Given the description of an element on the screen output the (x, y) to click on. 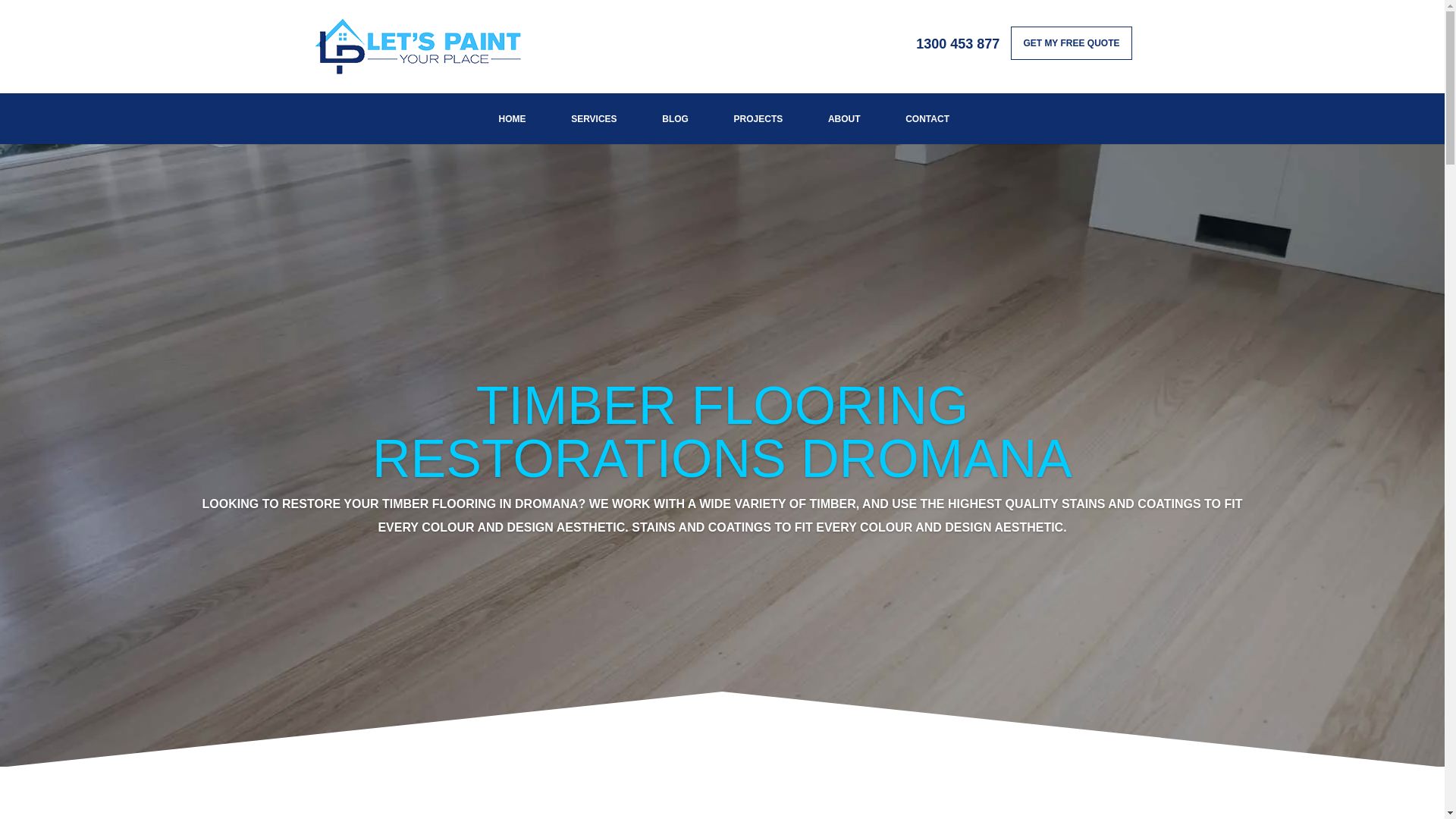
GET MY FREE QUOTE (1070, 42)
PROJECTS (758, 118)
CONTACT (928, 118)
1300 453 877 (956, 49)
SERVICES (594, 118)
BLOG (676, 118)
HOME (512, 118)
ABOUT (843, 118)
